Given the description of an element on the screen output the (x, y) to click on. 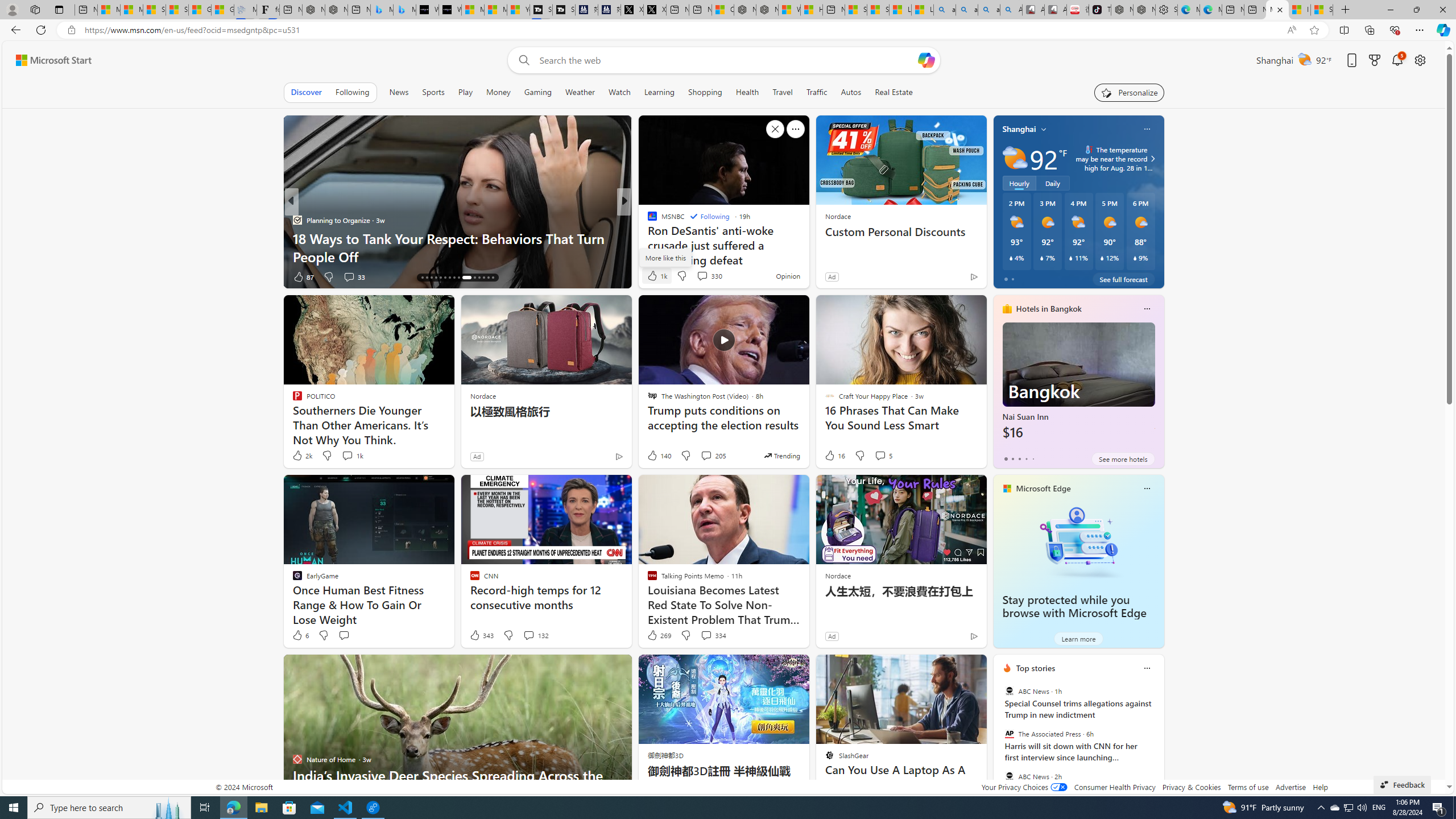
tab-3 (1025, 458)
AutomationID: tab-30 (492, 277)
View comments 1k Comment (352, 455)
Consumer Health Privacy (1115, 786)
44 Like (652, 276)
The Associated Press (1008, 733)
Terms of use (1247, 786)
